Given the description of an element on the screen output the (x, y) to click on. 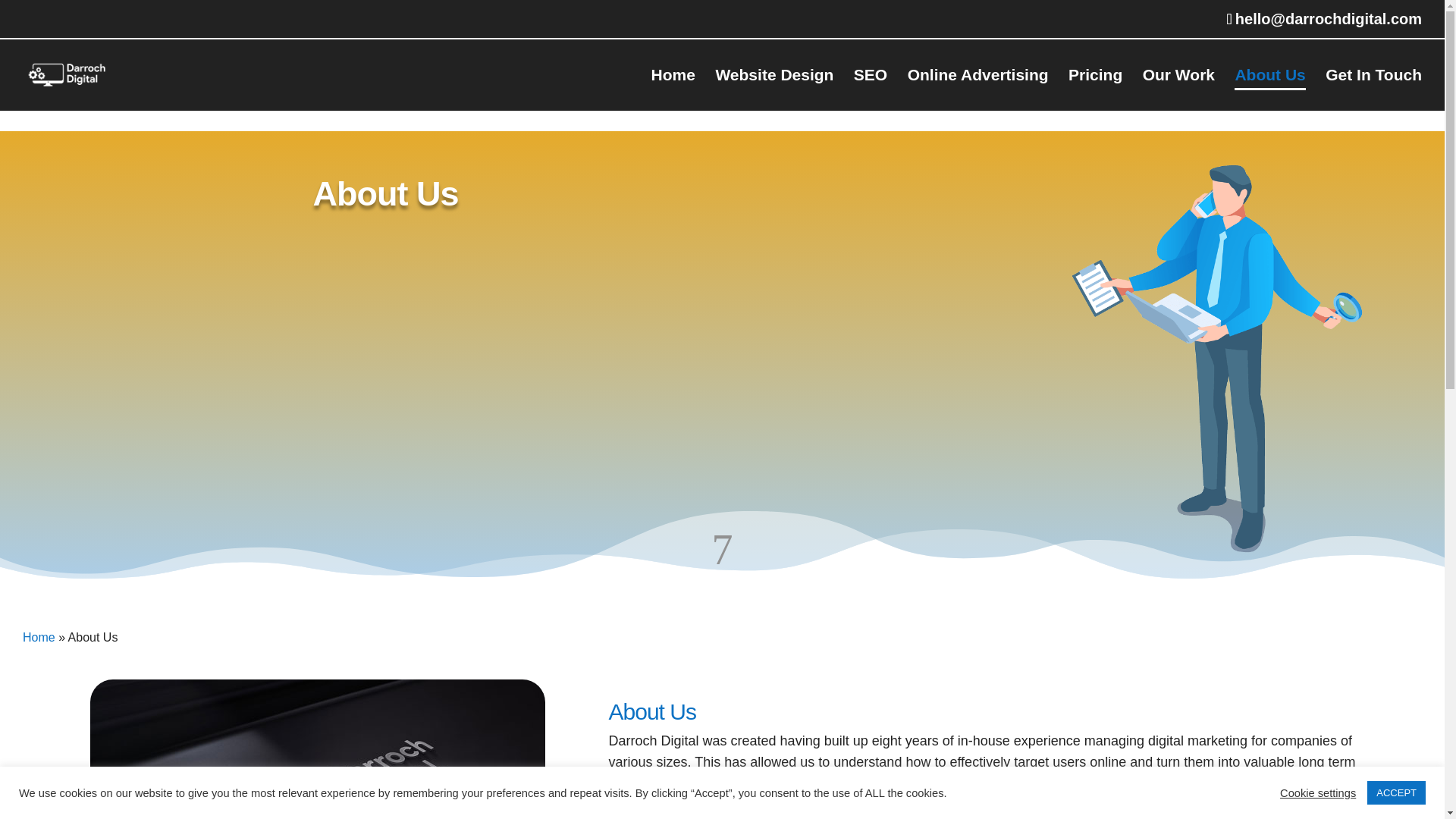
ACCEPT (1396, 792)
Get In Touch (1373, 89)
Online Advertising (977, 89)
About-Us-v4 (317, 749)
Our Work (1178, 89)
Cookie settings (1317, 792)
Home (672, 89)
Home (39, 636)
Website Design (773, 89)
About Us (1269, 89)
Home (16, 10)
Pricing (1095, 89)
